Given the description of an element on the screen output the (x, y) to click on. 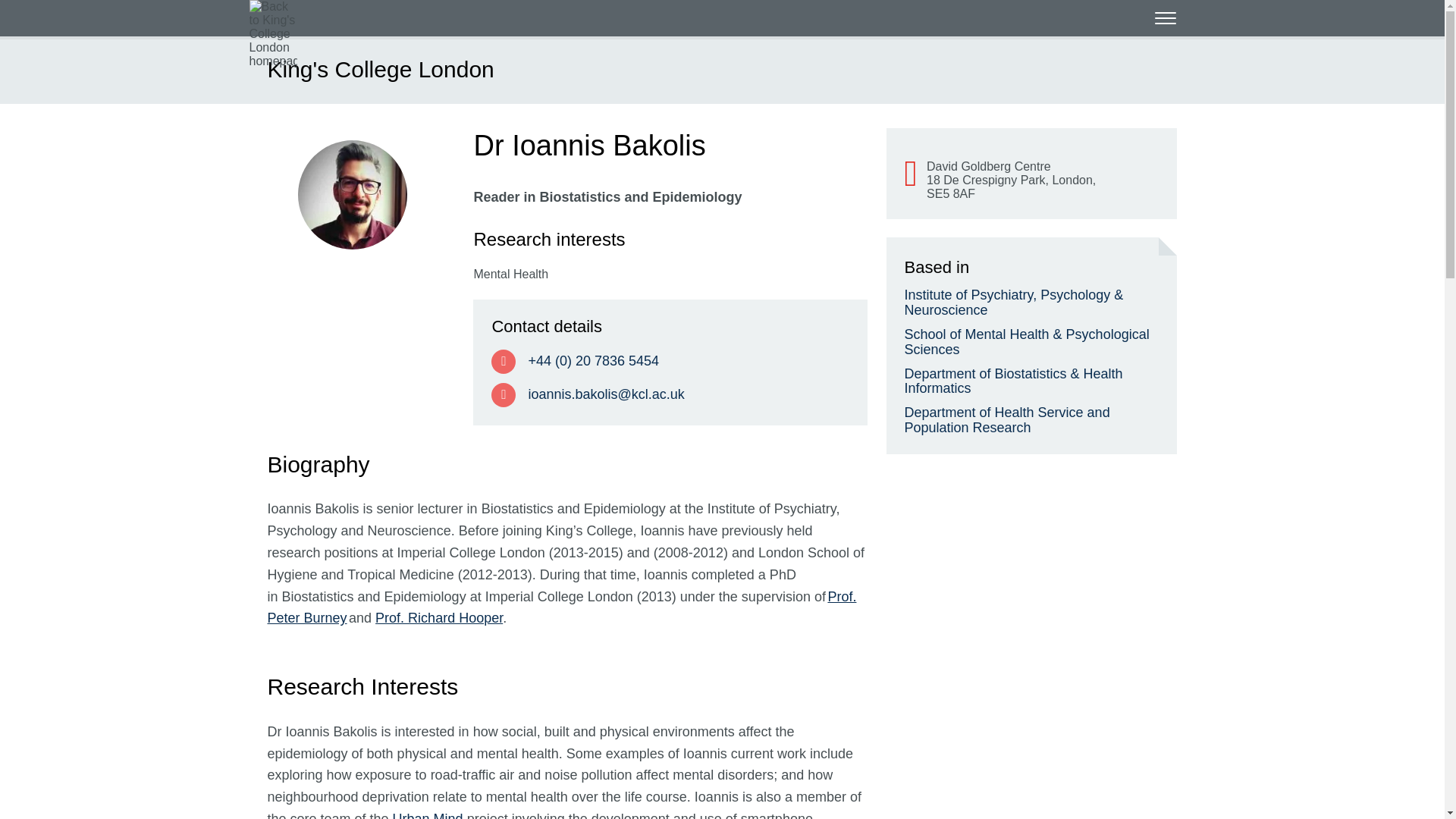
Opens navigation menu (1164, 17)
